Given the description of an element on the screen output the (x, y) to click on. 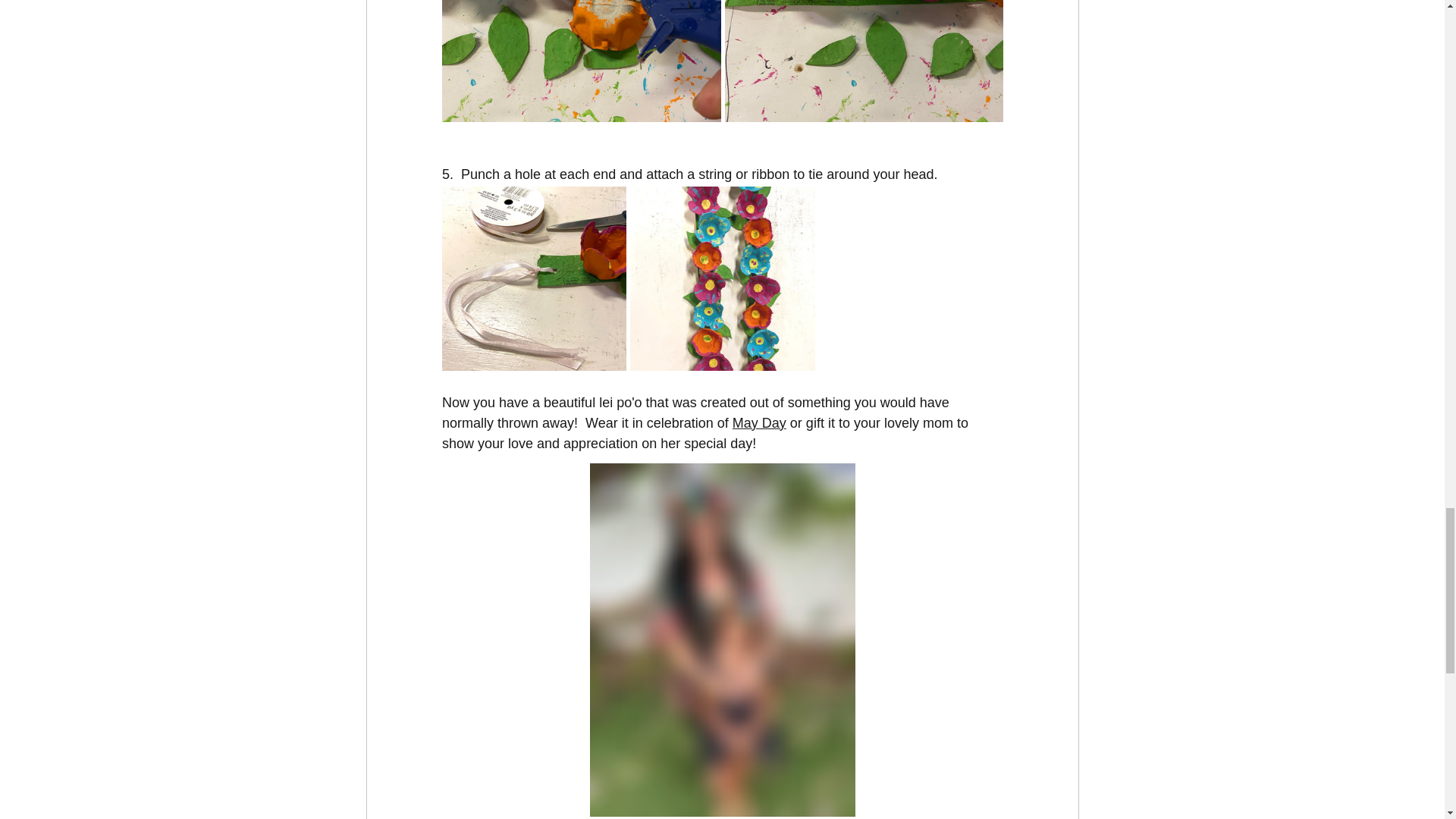
May Day (759, 422)
